Given the description of an element on the screen output the (x, y) to click on. 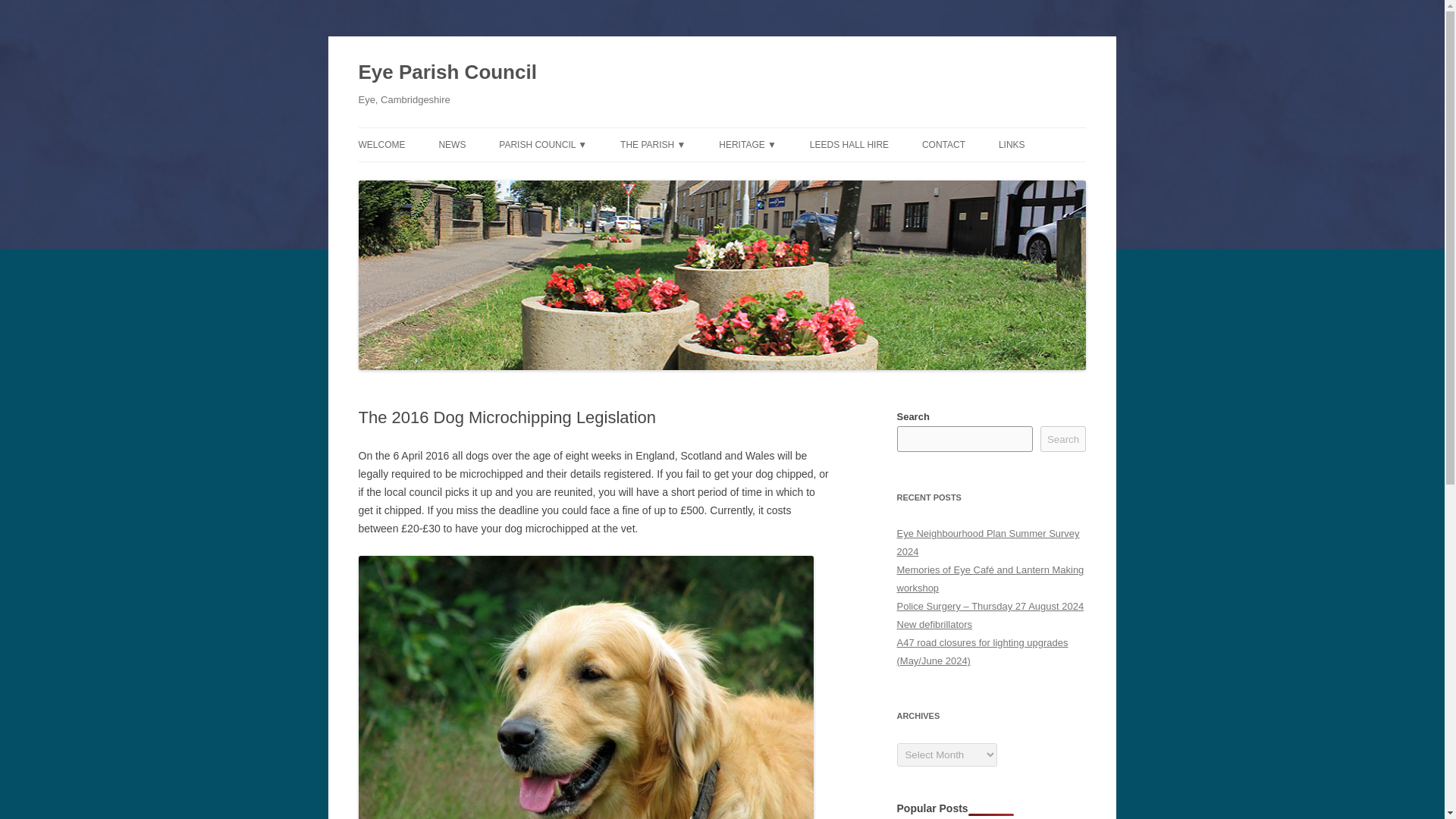
Eye Parish Council (446, 72)
PARISH COUNCIL (574, 176)
THE PARISH AND BEYOND (695, 176)
WELCOME (381, 144)
